Given the description of an element on the screen output the (x, y) to click on. 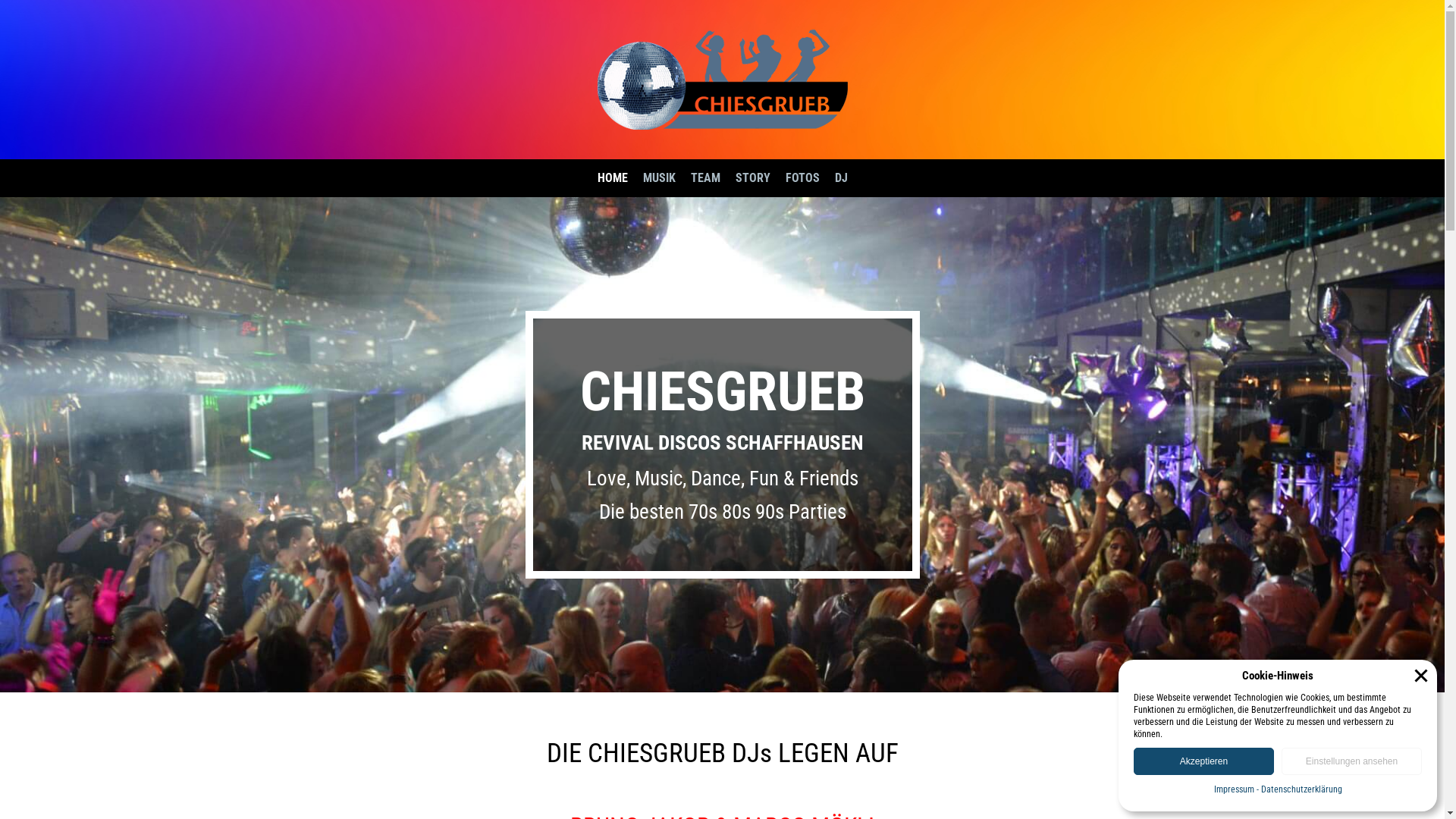
TEAM Element type: text (704, 178)
MUSIK Element type: text (659, 178)
HOME Element type: text (612, 178)
DJ Element type: text (840, 178)
Akzeptieren Element type: text (1203, 761)
STORY Element type: text (752, 178)
Einstellungen ansehen Element type: text (1351, 761)
FOTOS Element type: text (802, 178)
